Given the description of an element on the screen output the (x, y) to click on. 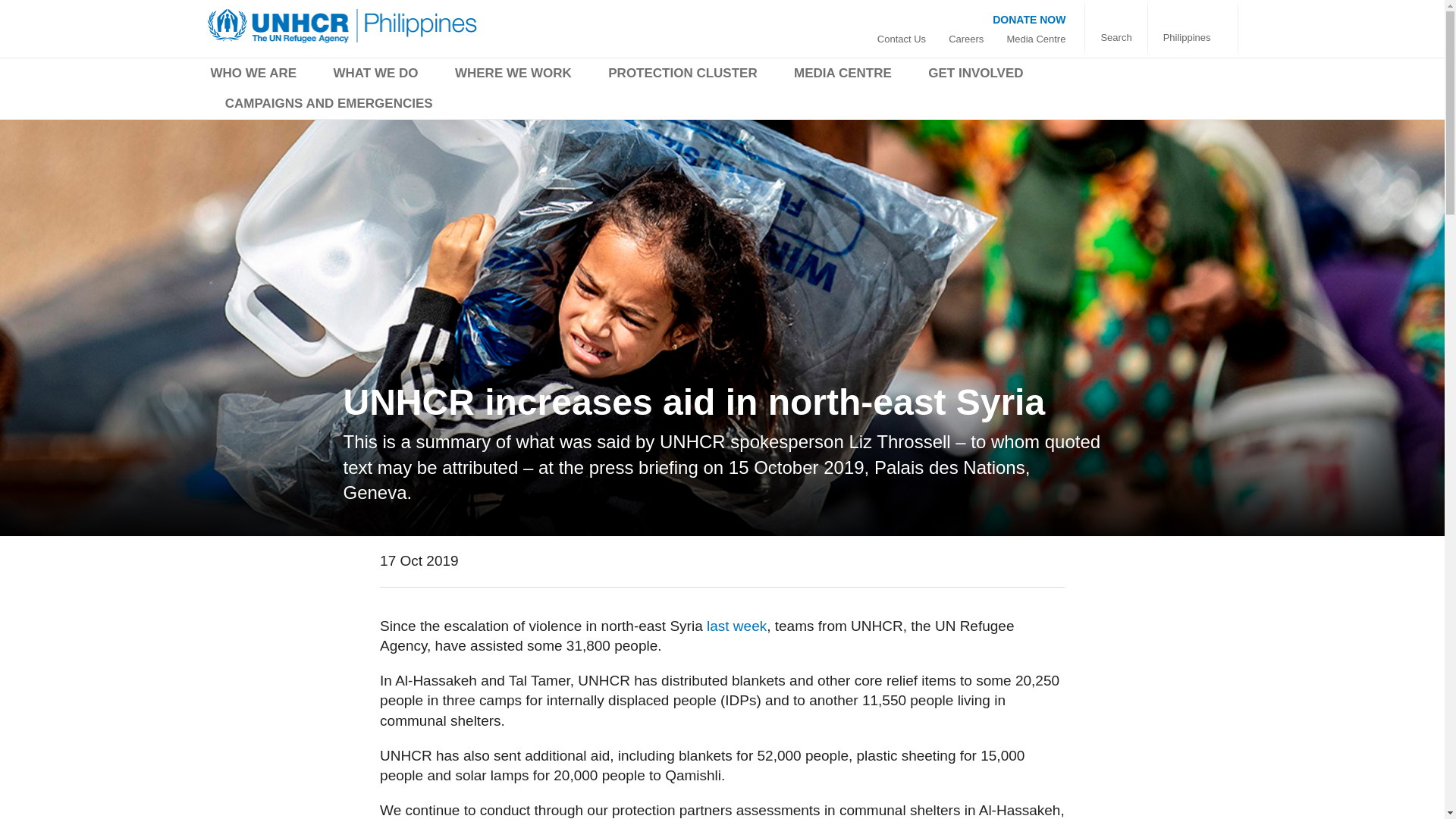
PROTECTION CLUSTER (682, 76)
WHERE WE WORK (513, 76)
Careers (965, 38)
DONATE NOW (1029, 19)
Philippines (1193, 38)
Media Centre (1035, 38)
Contact Us (901, 38)
WHO WE ARE (252, 76)
UNHCR International (1193, 38)
Search (1115, 38)
MEDIA CENTRE (842, 76)
Contact Us (901, 38)
Search (1115, 38)
UNHCR Philippines (342, 25)
Media Centre (1035, 38)
